Given the description of an element on the screen output the (x, y) to click on. 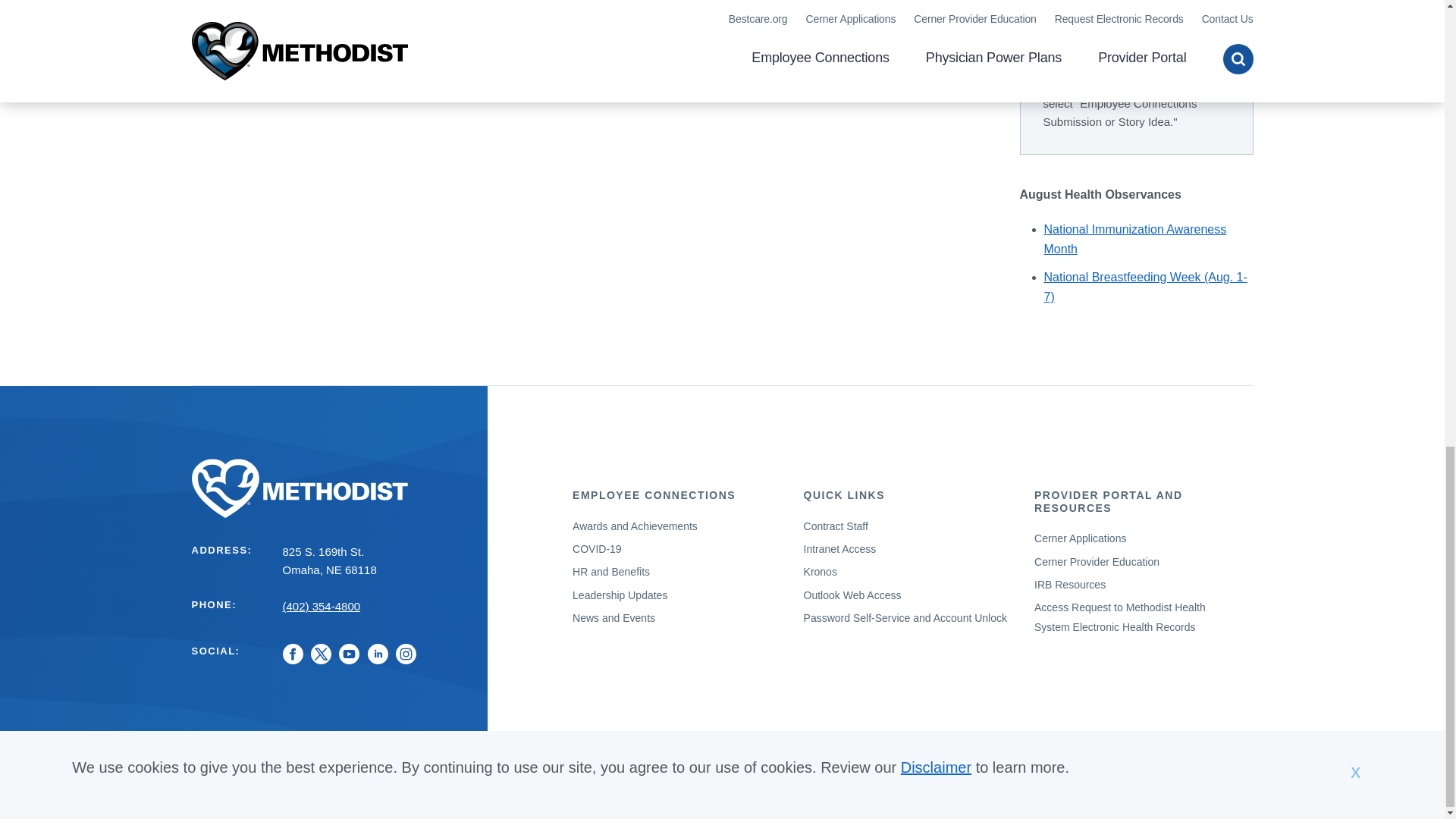
Contact Us (1155, 84)
HR and Benefits (610, 571)
COVID-19 (596, 548)
National Immunization Awareness Month (1134, 238)
Contact page (1155, 84)
Methodist Health System (329, 488)
Home (329, 488)
EMPLOYEE CONNECTIONS (653, 494)
Awards and Achievements (634, 526)
